Given the description of an element on the screen output the (x, y) to click on. 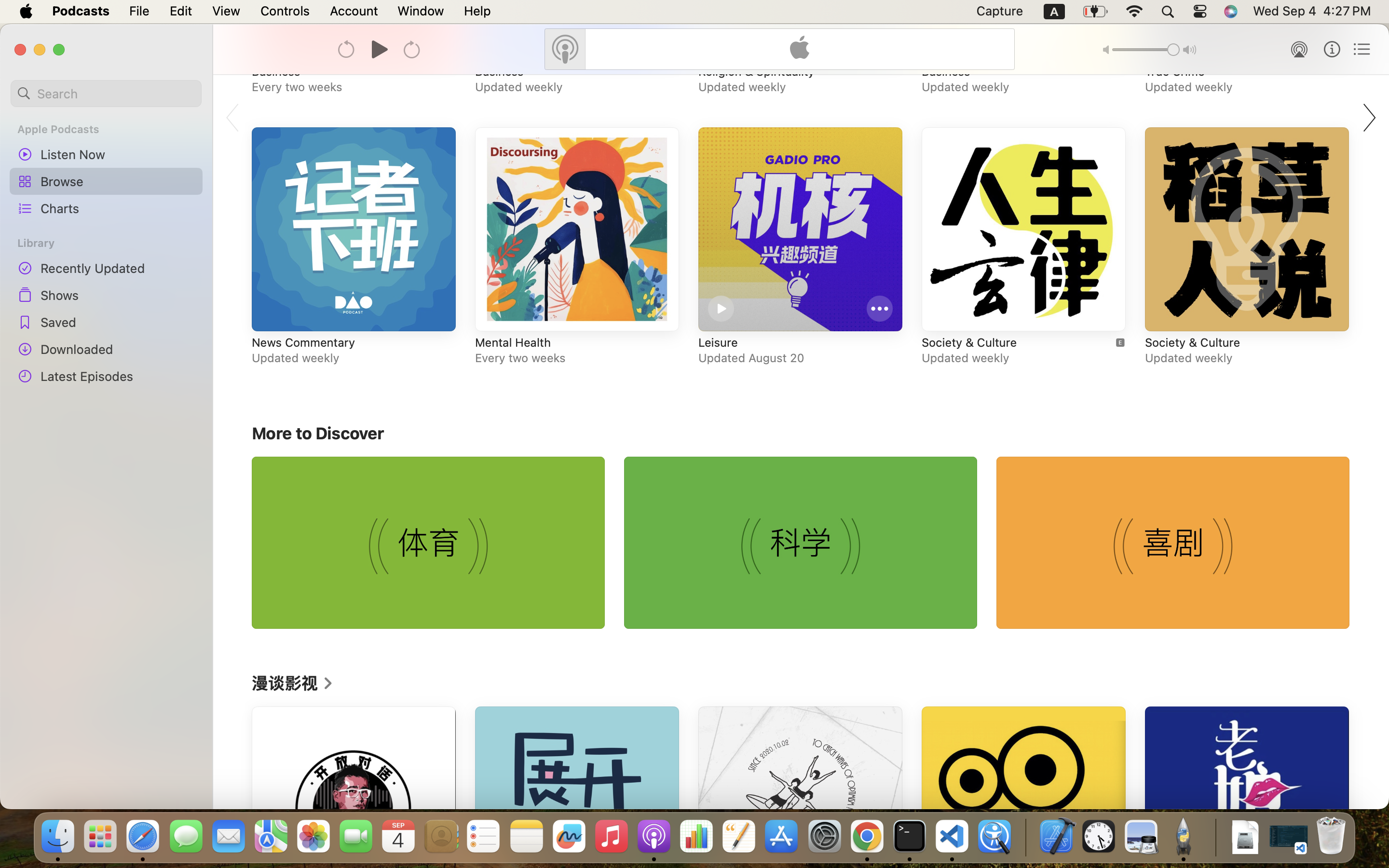
0.4285714328289032 Element type: AXDockItem (1024, 836)
1.0 Element type: AXSlider (1145, 49)
